Given the description of an element on the screen output the (x, y) to click on. 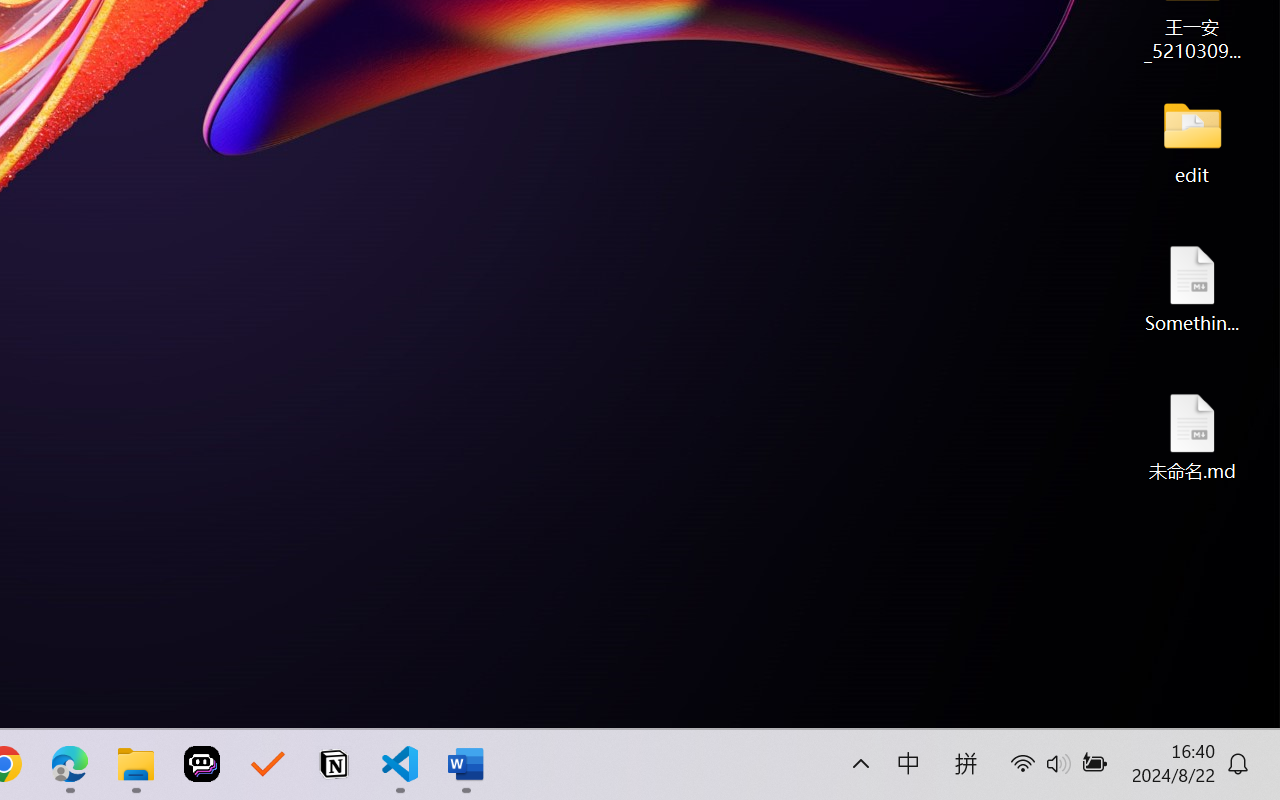
Poe (201, 764)
edit (1192, 140)
Notion (333, 764)
